Given the description of an element on the screen output the (x, y) to click on. 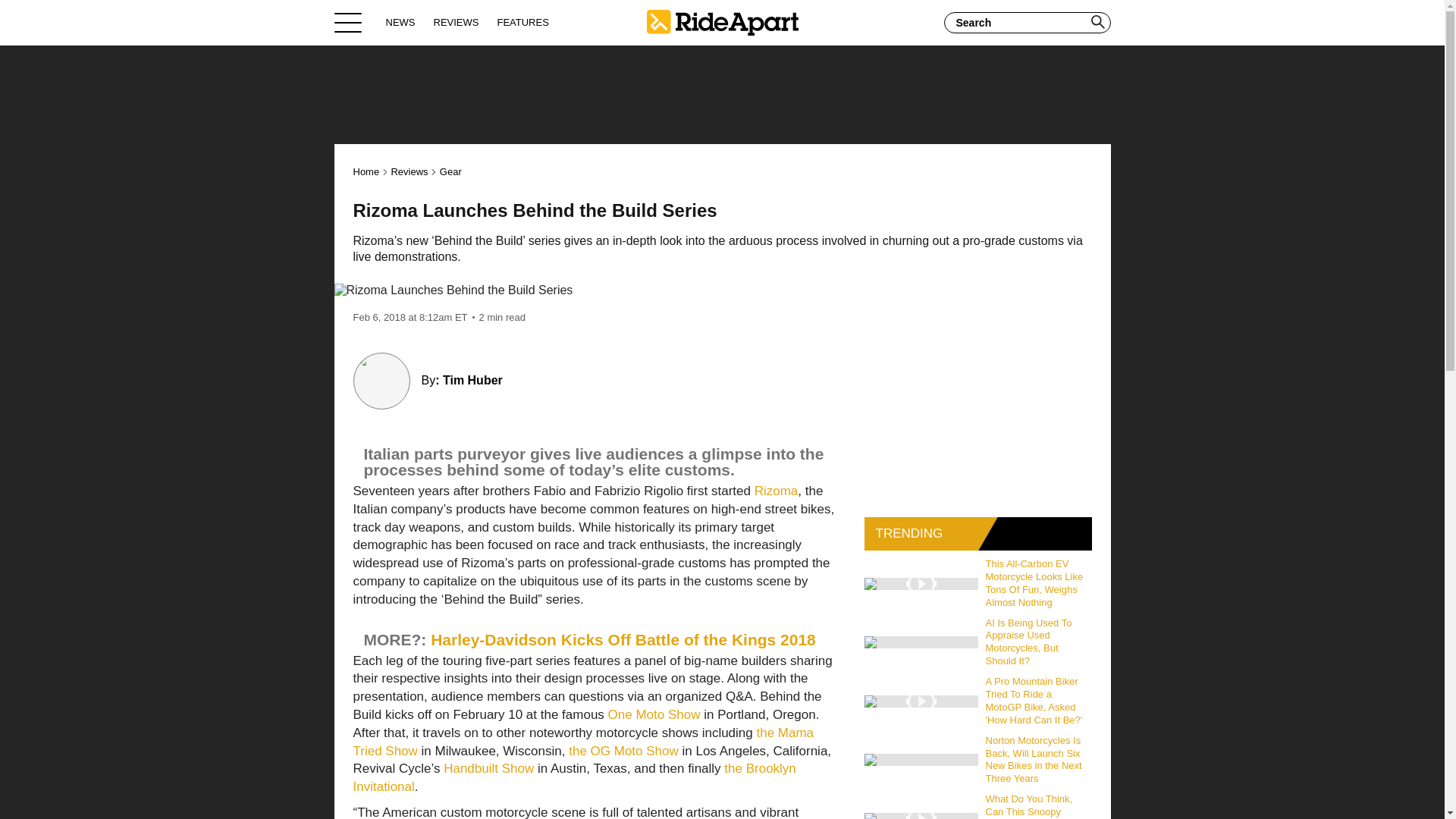
Harley-Davidson Kicks Off Battle of the Kings 2018 (622, 639)
the Brooklyn Invitational (574, 777)
Rizoma (775, 490)
Home (366, 171)
Tim Huber (472, 379)
Reviews (409, 171)
REVIEWS (456, 22)
the Mama Tried Show (583, 741)
the OG Moto Show (623, 750)
FEATURES (522, 22)
Gear (450, 171)
Handbuilt Show (489, 768)
NEWS (399, 22)
Home (721, 22)
One Moto Show (654, 714)
